Given the description of an element on the screen output the (x, y) to click on. 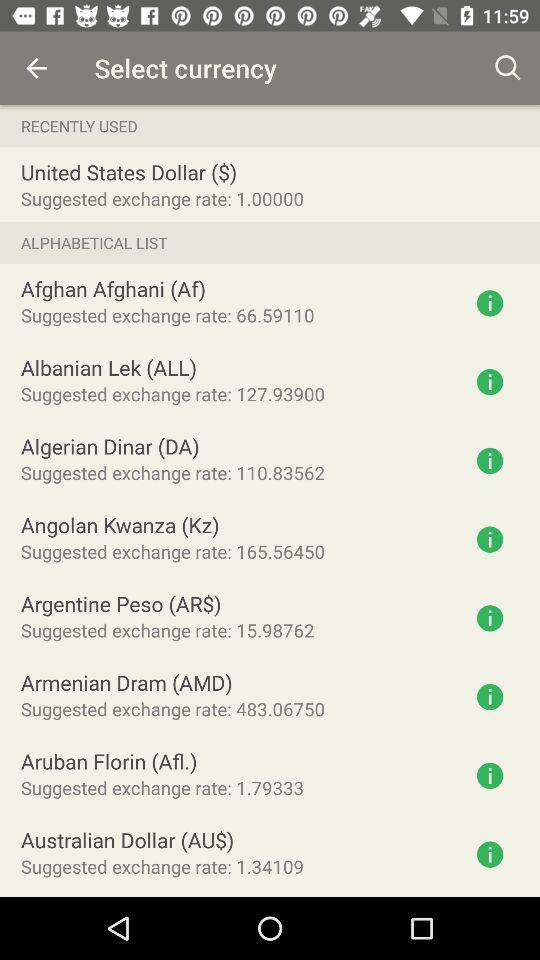
algerian dinar information (490, 460)
